Given the description of an element on the screen output the (x, y) to click on. 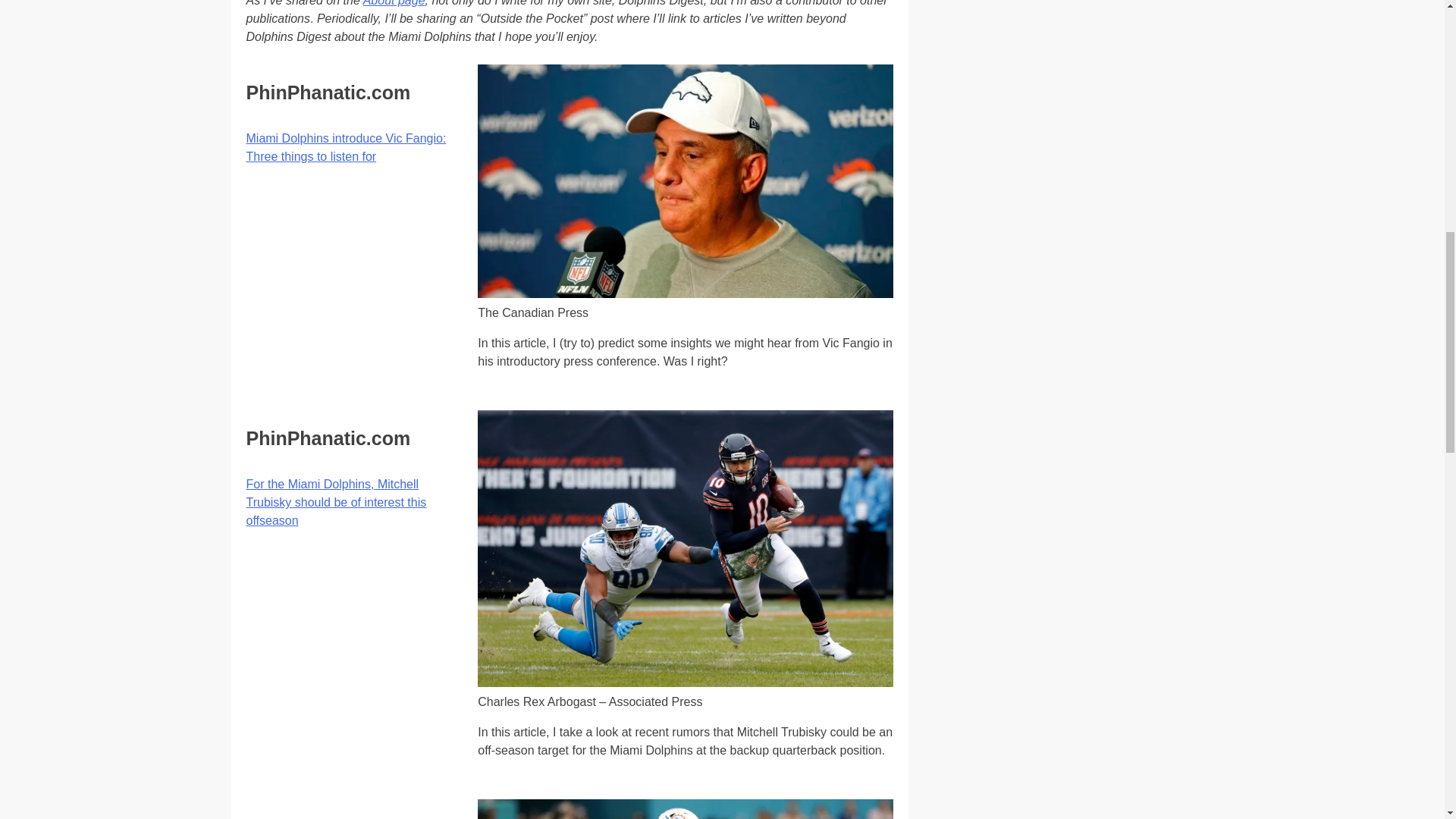
About page (393, 3)
